Given the description of an element on the screen output the (x, y) to click on. 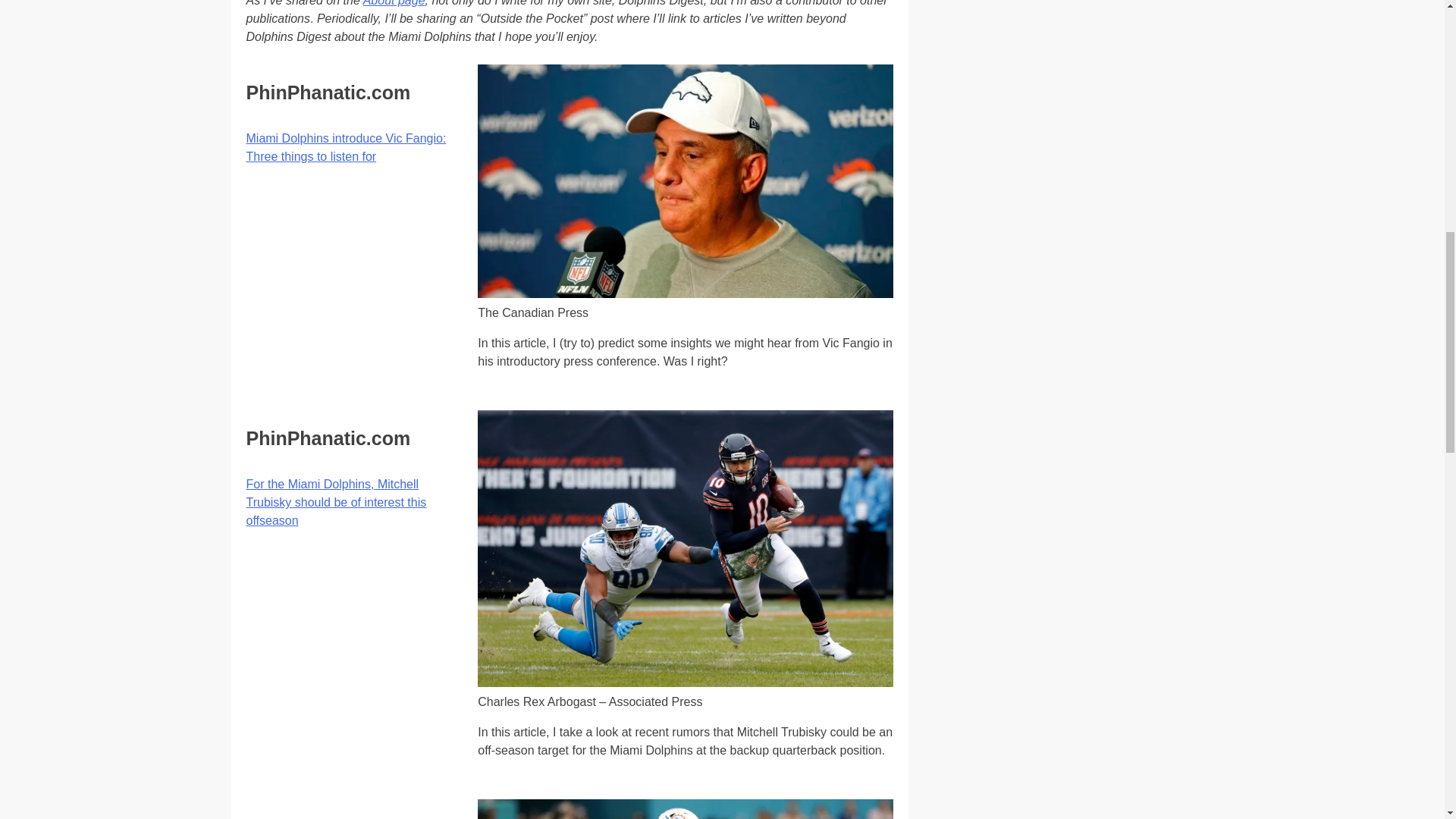
About page (393, 3)
